Given the description of an element on the screen output the (x, y) to click on. 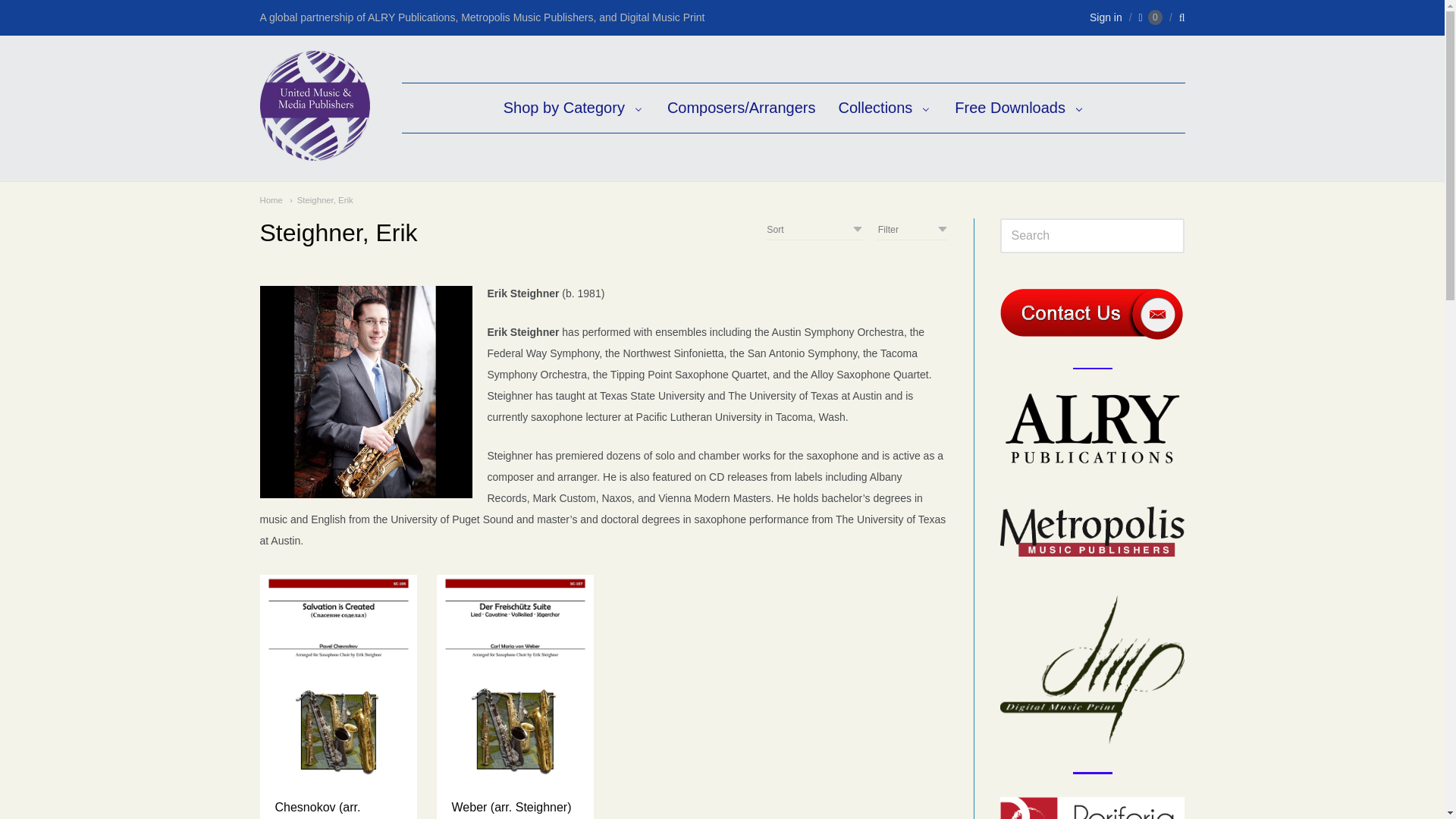
Sign in (1105, 17)
0 (1149, 17)
United Music and Media Publishers (314, 152)
Shop by Category (573, 108)
